Given the description of an element on the screen output the (x, y) to click on. 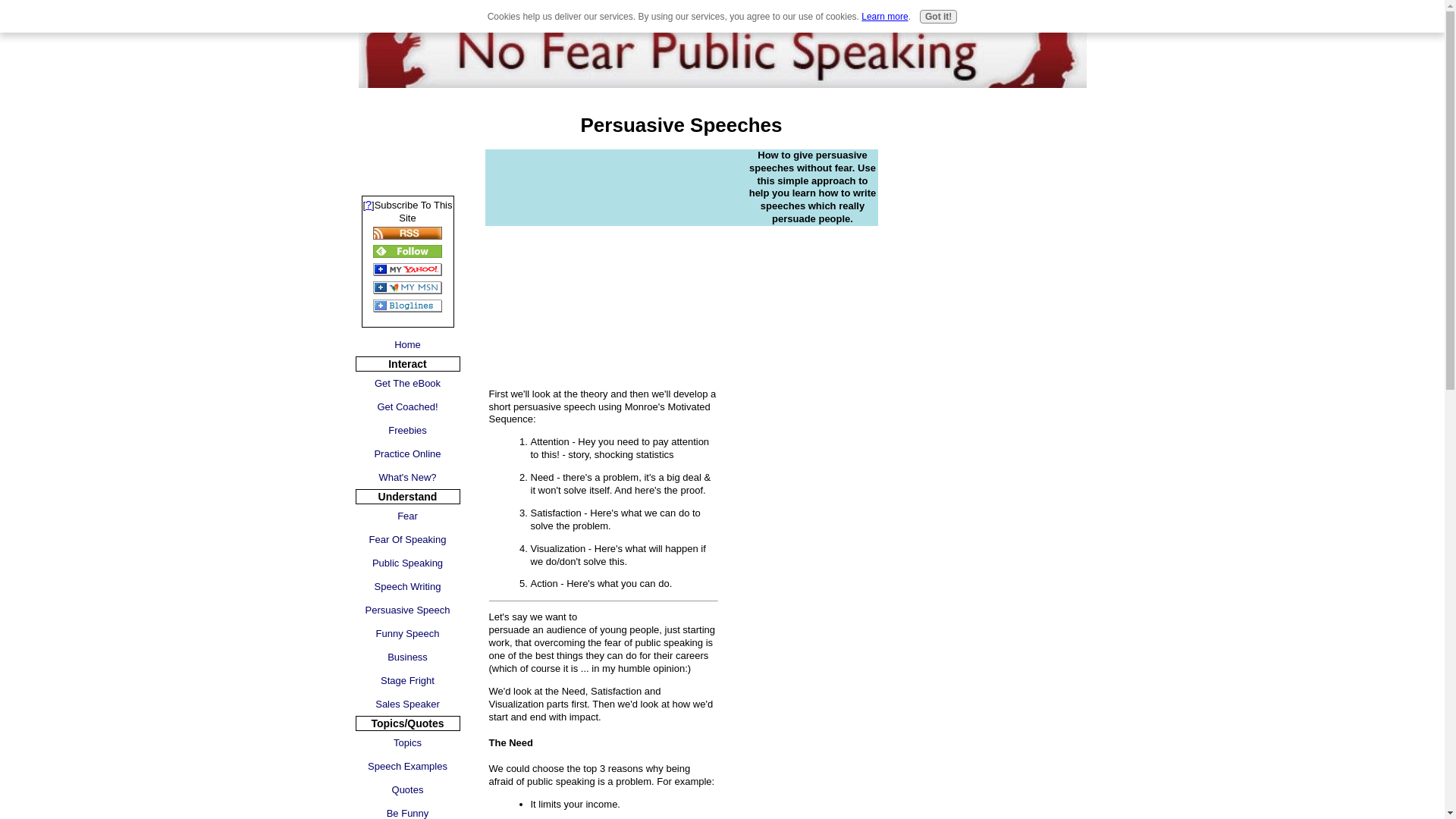
Sales Speaker (407, 703)
Be Funny (407, 810)
Advertisement (611, 255)
Public Speaking (407, 562)
What's New? (407, 477)
Fear Of Speaking (407, 539)
Get The eBook (407, 382)
Business (407, 657)
Persuasive Speech (407, 609)
Speech Examples (407, 766)
Advertisement (406, 142)
Topics (407, 742)
Fear (407, 515)
Home (407, 344)
Practice Online (407, 454)
